Given the description of an element on the screen output the (x, y) to click on. 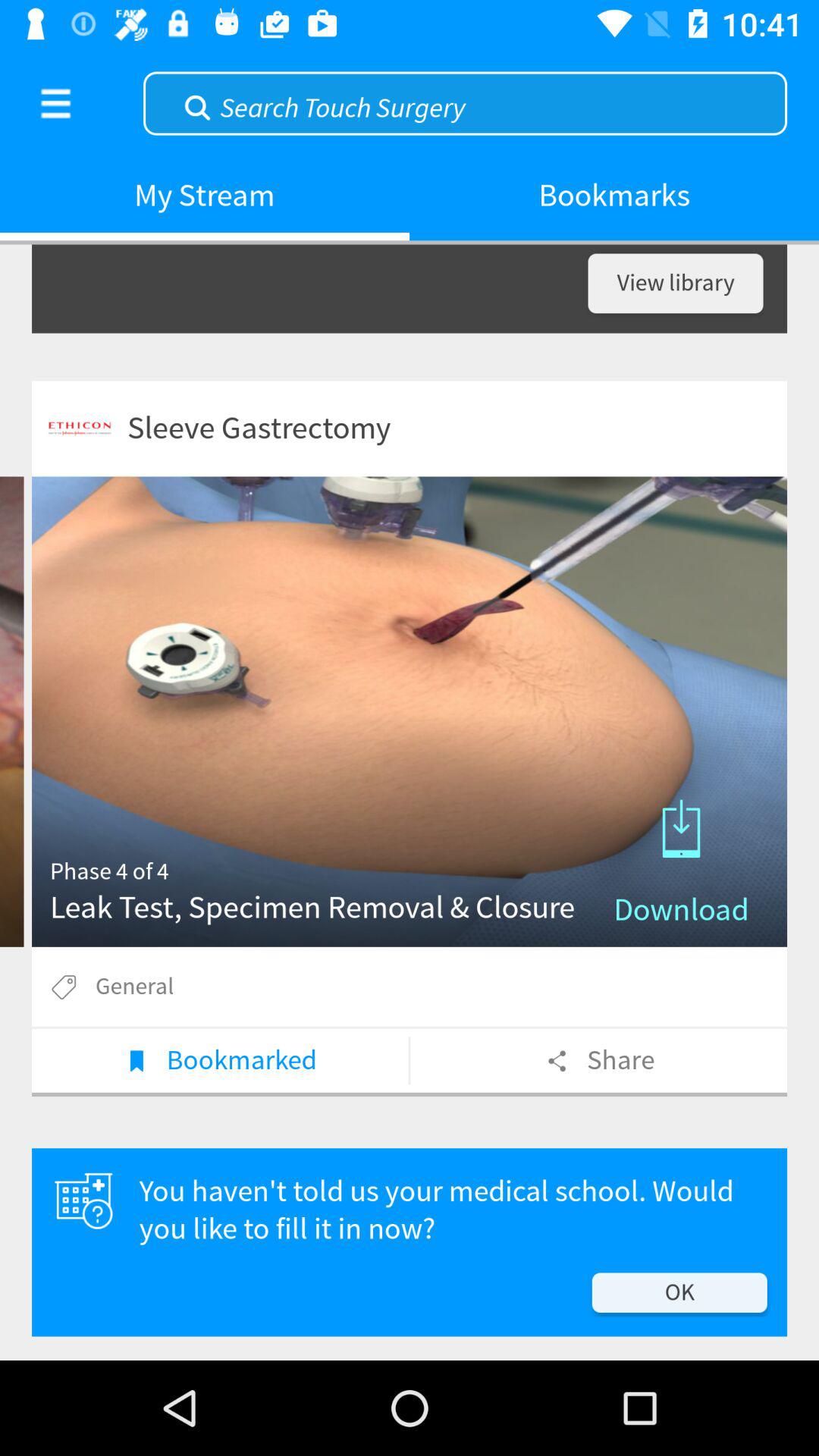
open ok icon (679, 1292)
